Given the description of an element on the screen output the (x, y) to click on. 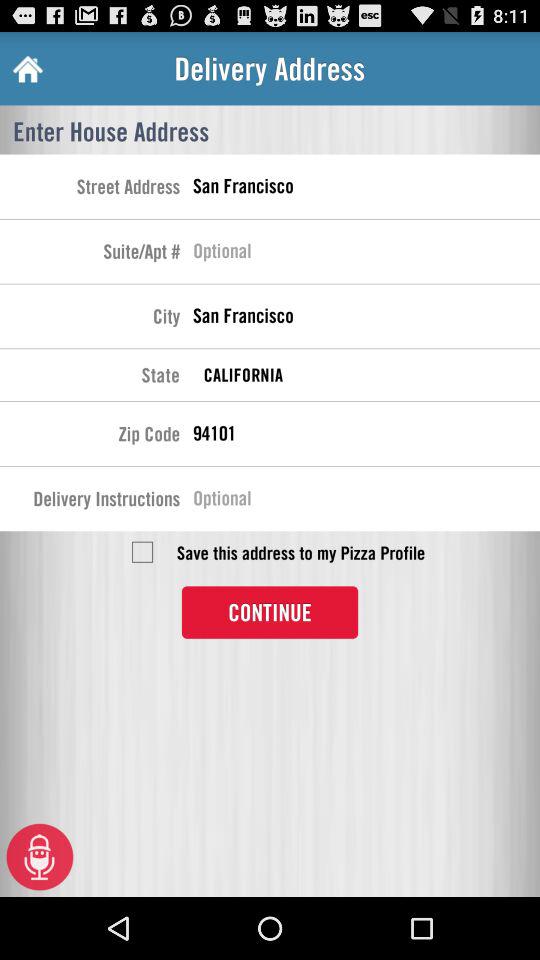
save address to profile (142, 552)
